Given the description of an element on the screen output the (x, y) to click on. 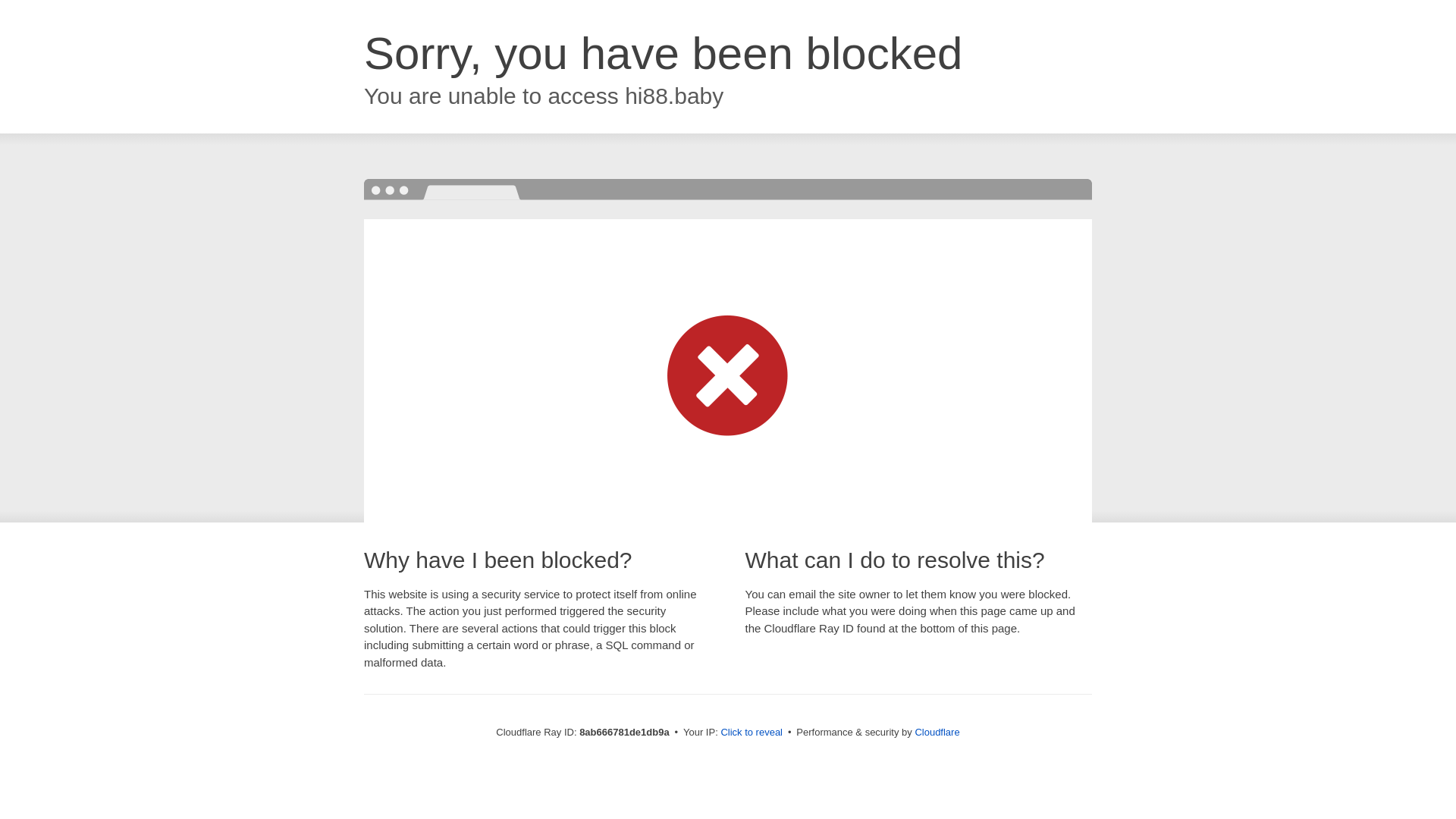
Cloudflare (936, 731)
Click to reveal (751, 732)
